Given the description of an element on the screen output the (x, y) to click on. 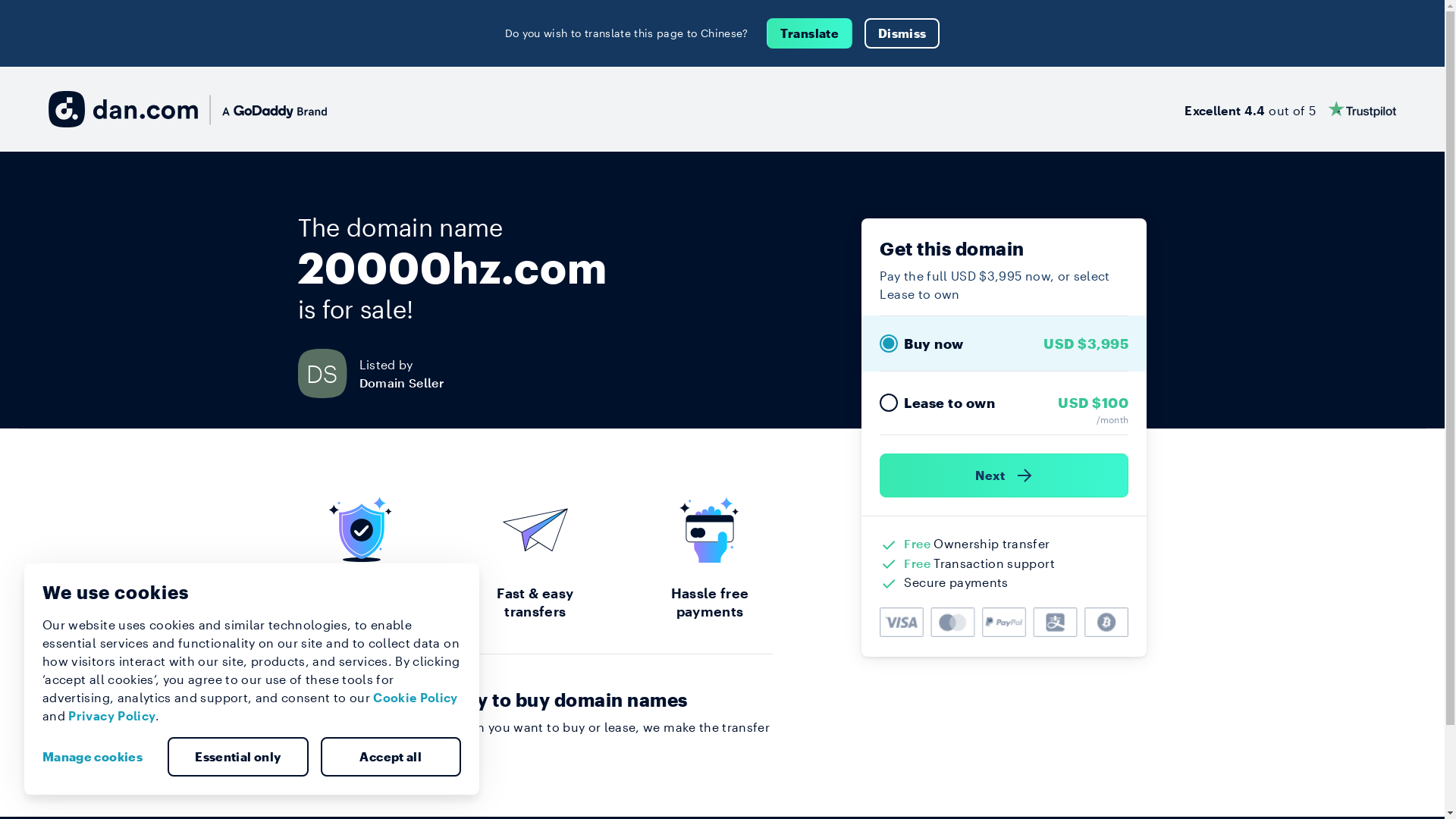
Accept all Element type: text (390, 756)
Manage cookies Element type: text (98, 756)
Privacy Policy Element type: text (111, 715)
Excellent 4.4 out of 5 Element type: text (1290, 109)
Cookie Policy Element type: text (415, 697)
Dismiss Element type: text (901, 33)
Translate Element type: text (809, 33)
Next
) Element type: text (1003, 475)
Essential only Element type: text (237, 756)
